Given the description of an element on the screen output the (x, y) to click on. 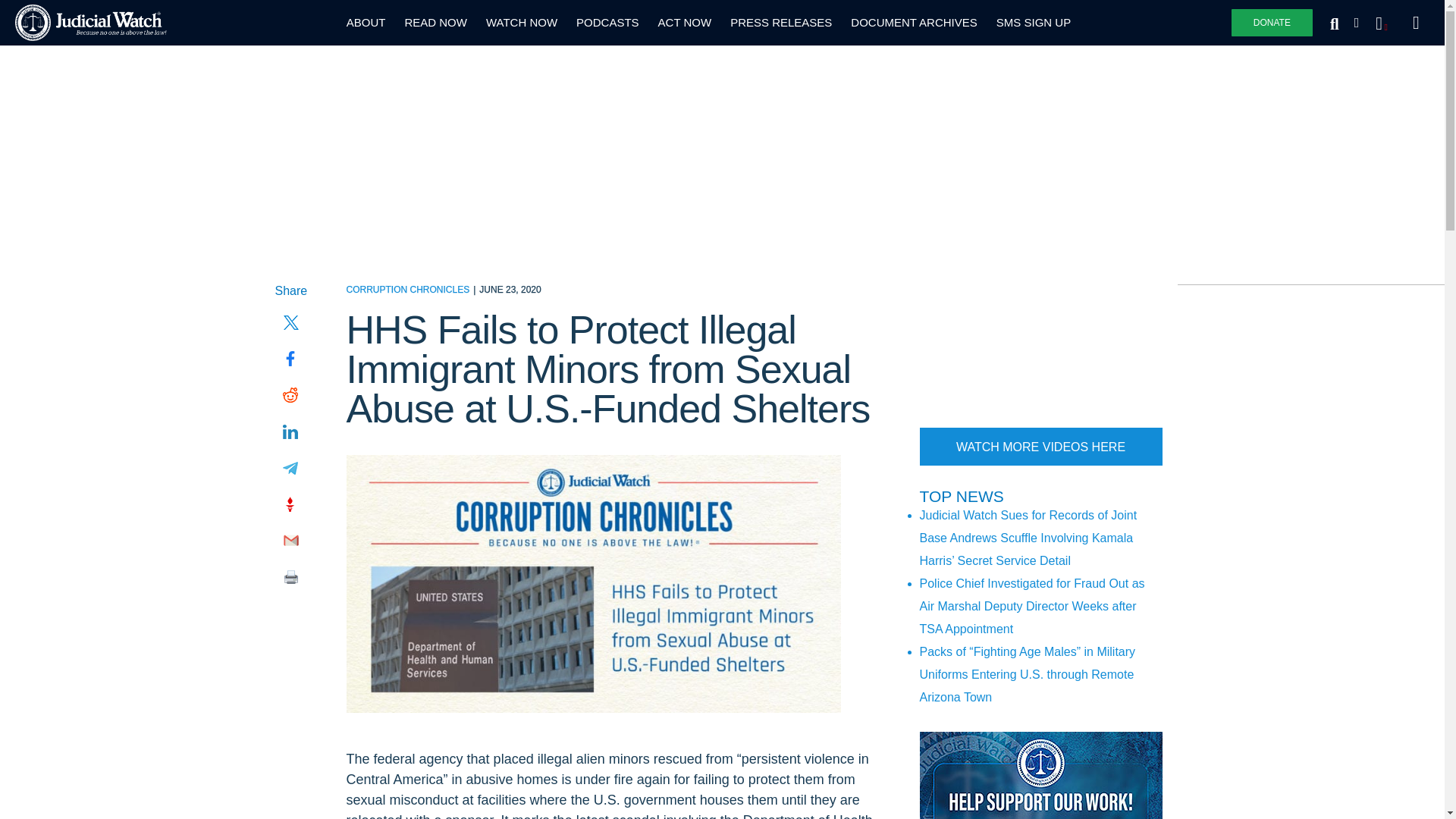
Judicial Watch Homepage (90, 22)
